Given the description of an element on the screen output the (x, y) to click on. 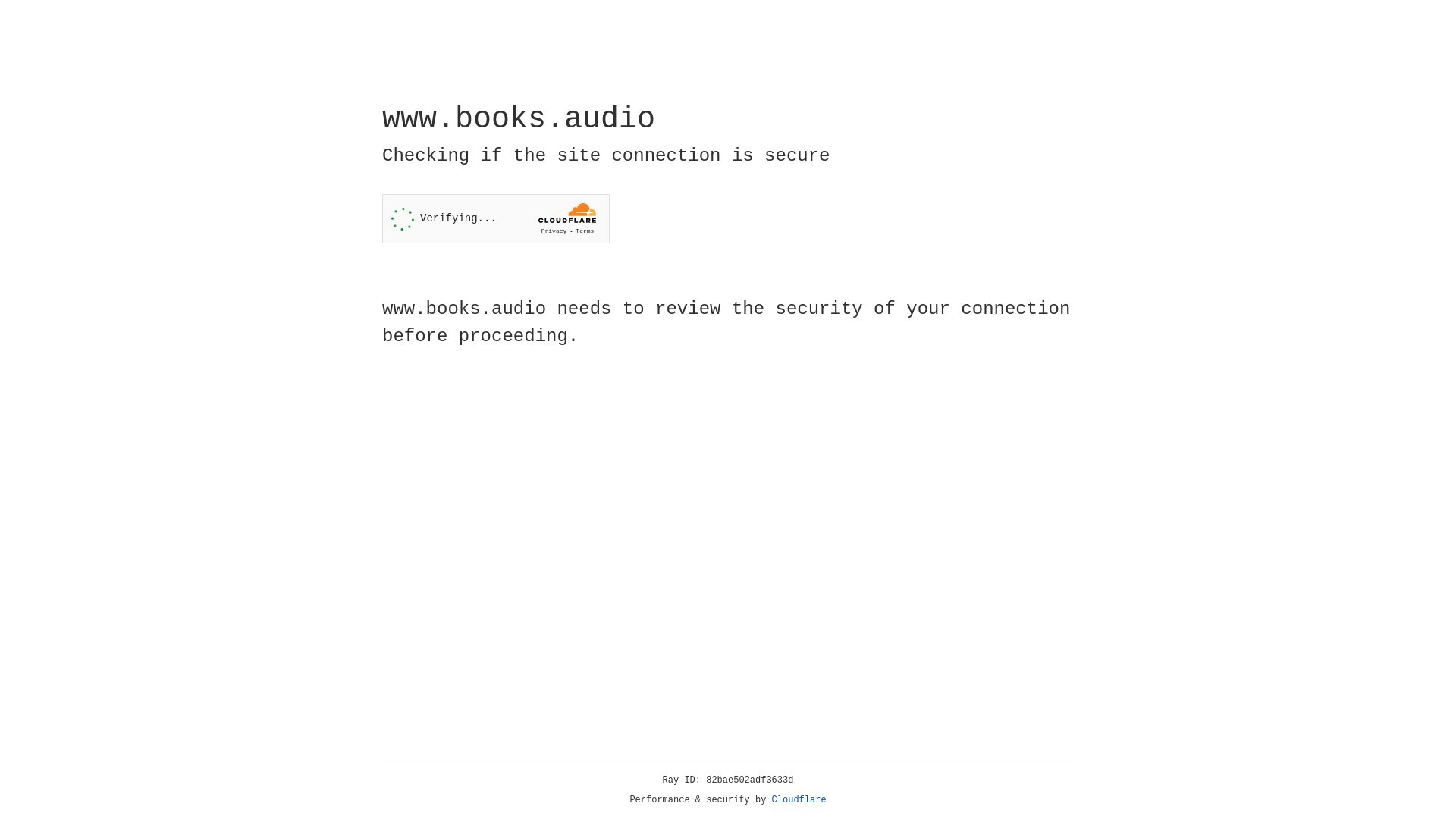
Widget containing a Cloudflare security challenge Element type: hover (495, 218)
Cloudflare Element type: text (798, 799)
